Given the description of an element on the screen output the (x, y) to click on. 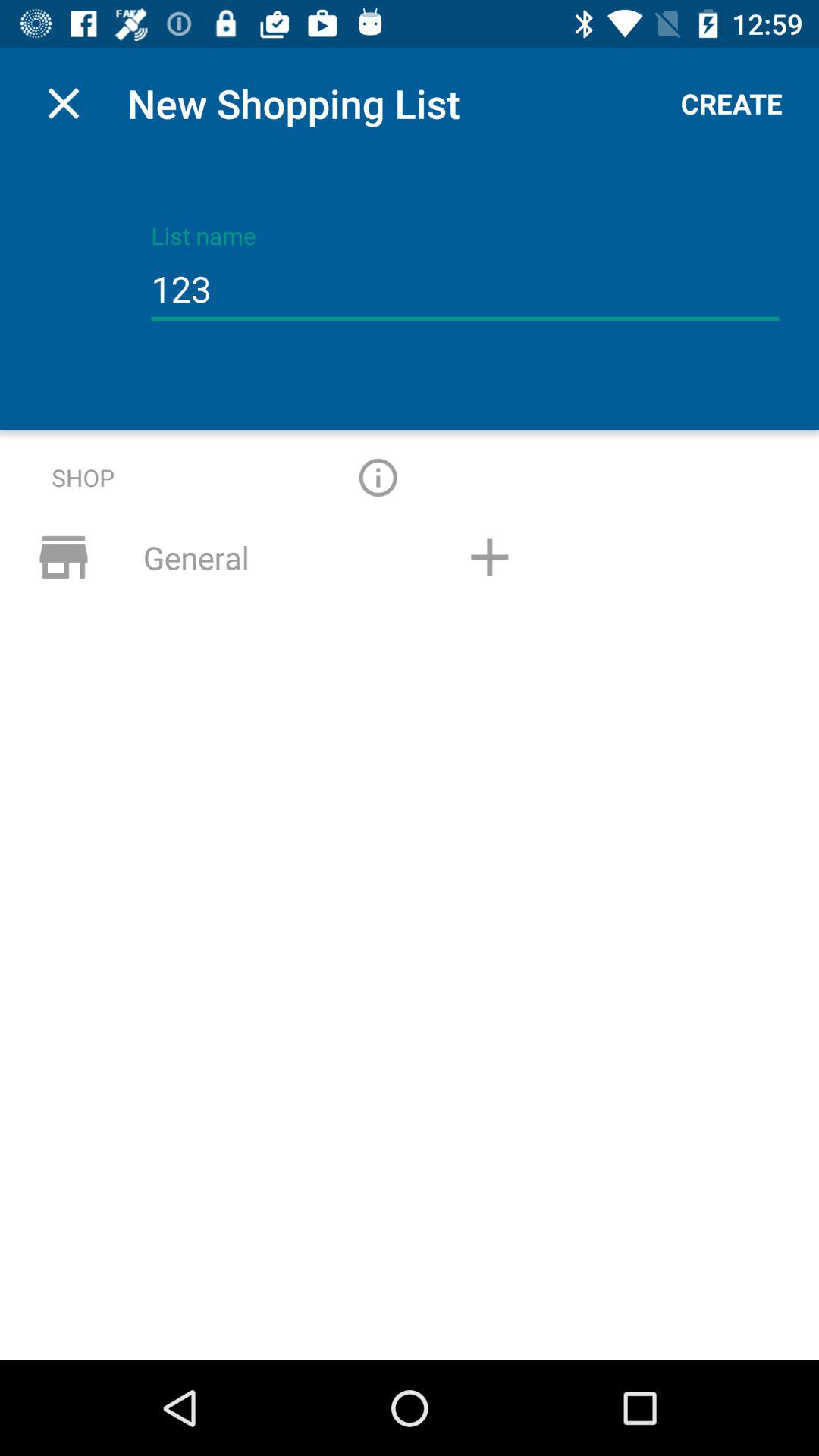
add button (489, 557)
